Given the description of an element on the screen output the (x, y) to click on. 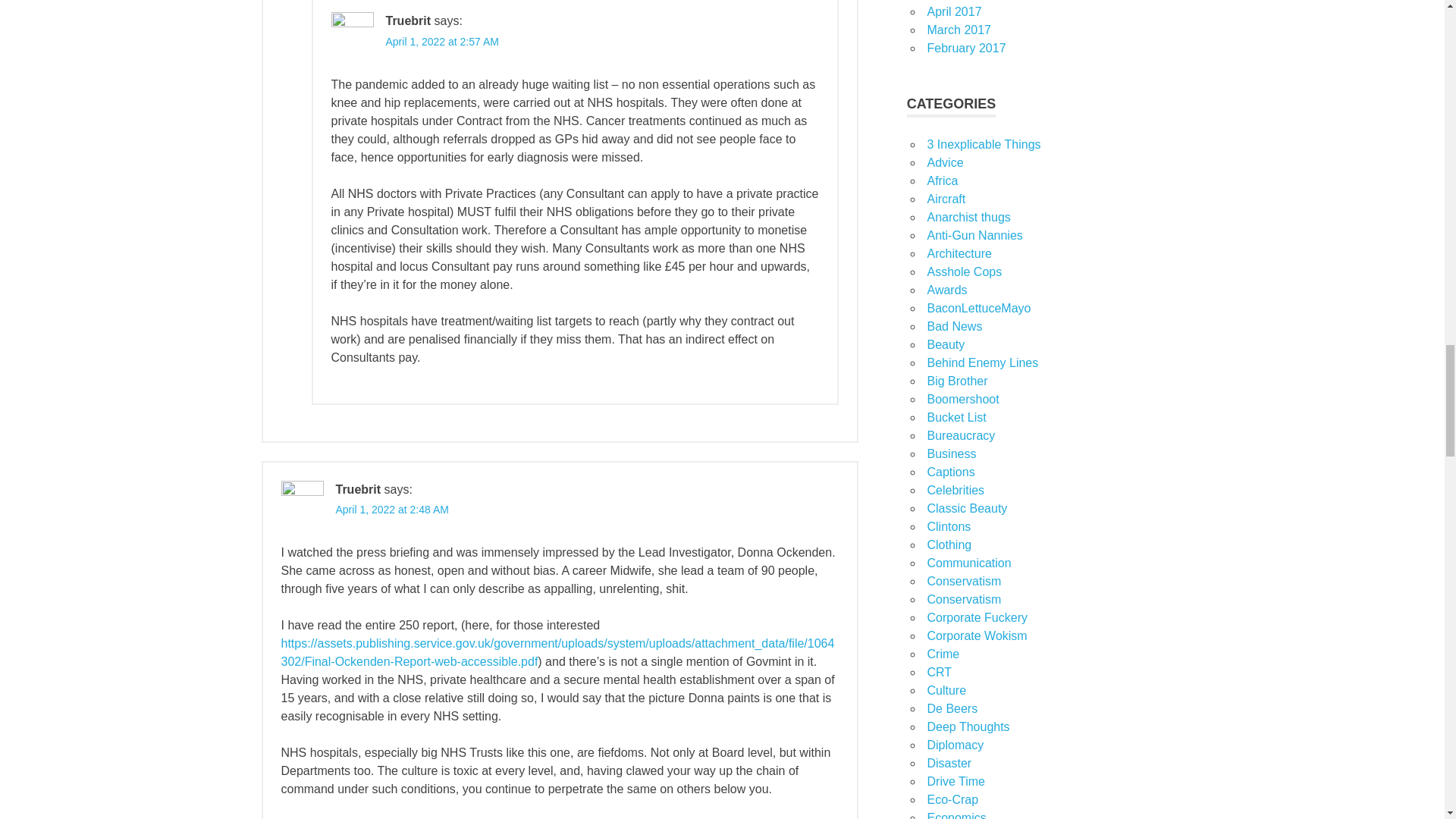
April 1, 2022 at 2:48 AM (391, 509)
Horrible, unpleasant stuff (953, 326)
Art, music, literature and thespianism (946, 689)
April 1, 2022 at 2:57 AM (441, 40)
